Given the description of an element on the screen output the (x, y) to click on. 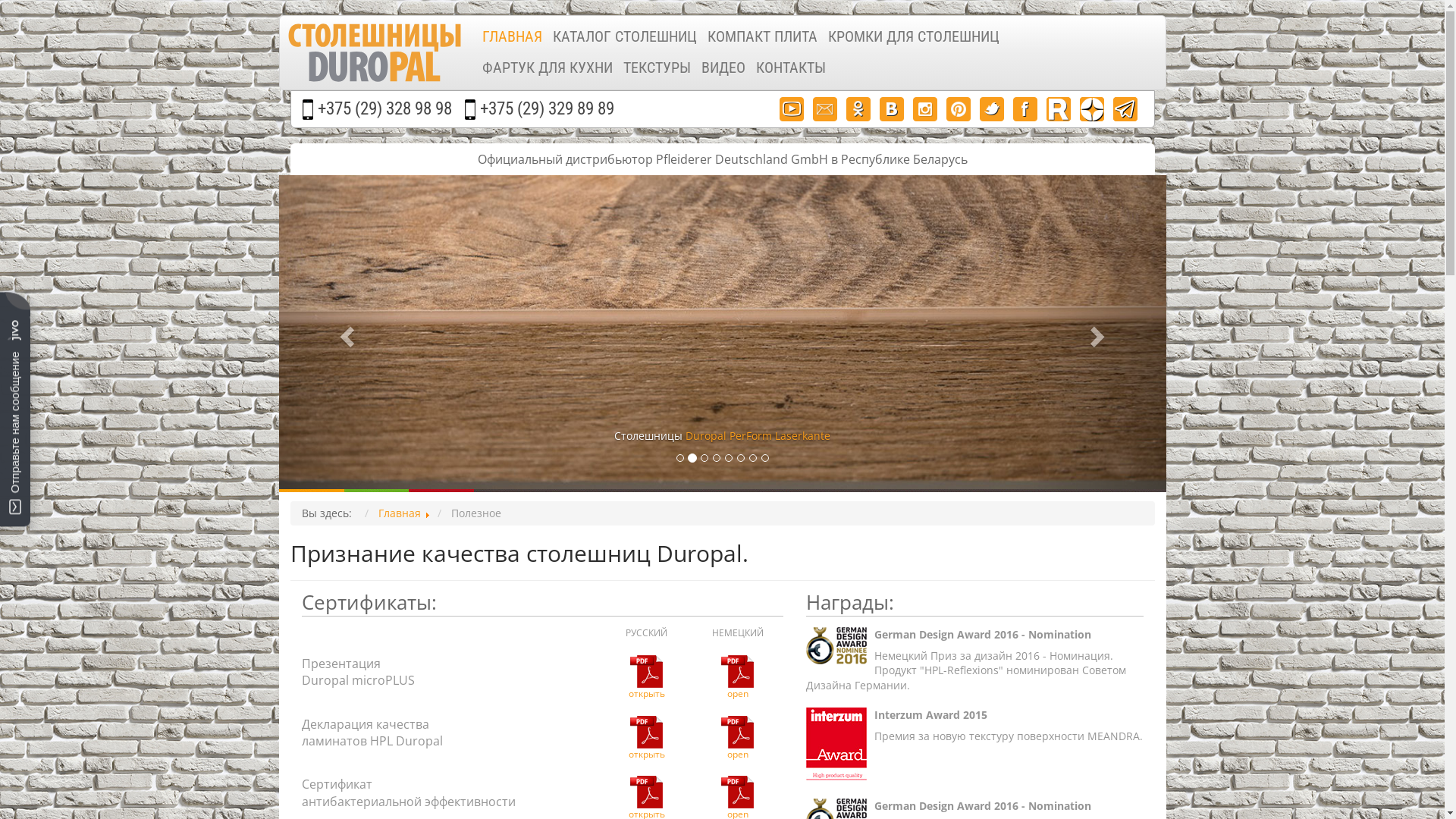
open Element type: text (737, 681)
open Element type: text (737, 741)
Duropal PerForm Laserkante Element type: text (757, 435)
+375 (29) 329 89 89 Element type: text (546, 108)
+375 (29) 328 98 98 Element type: text (383, 108)
Previous Element type: text (345, 332)
Next Element type: text (1099, 332)
